Given the description of an element on the screen output the (x, y) to click on. 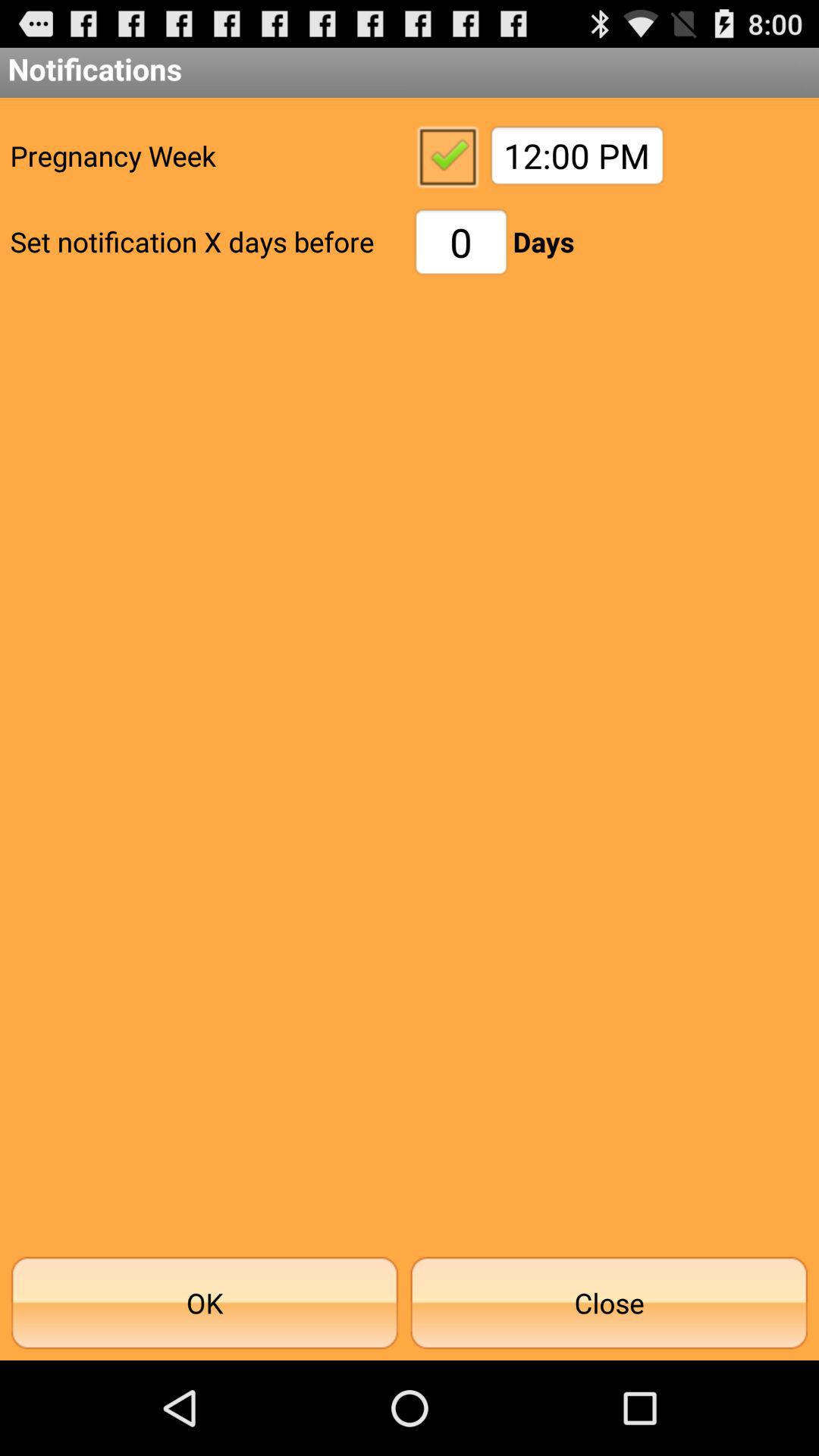
ok (447, 155)
